Given the description of an element on the screen output the (x, y) to click on. 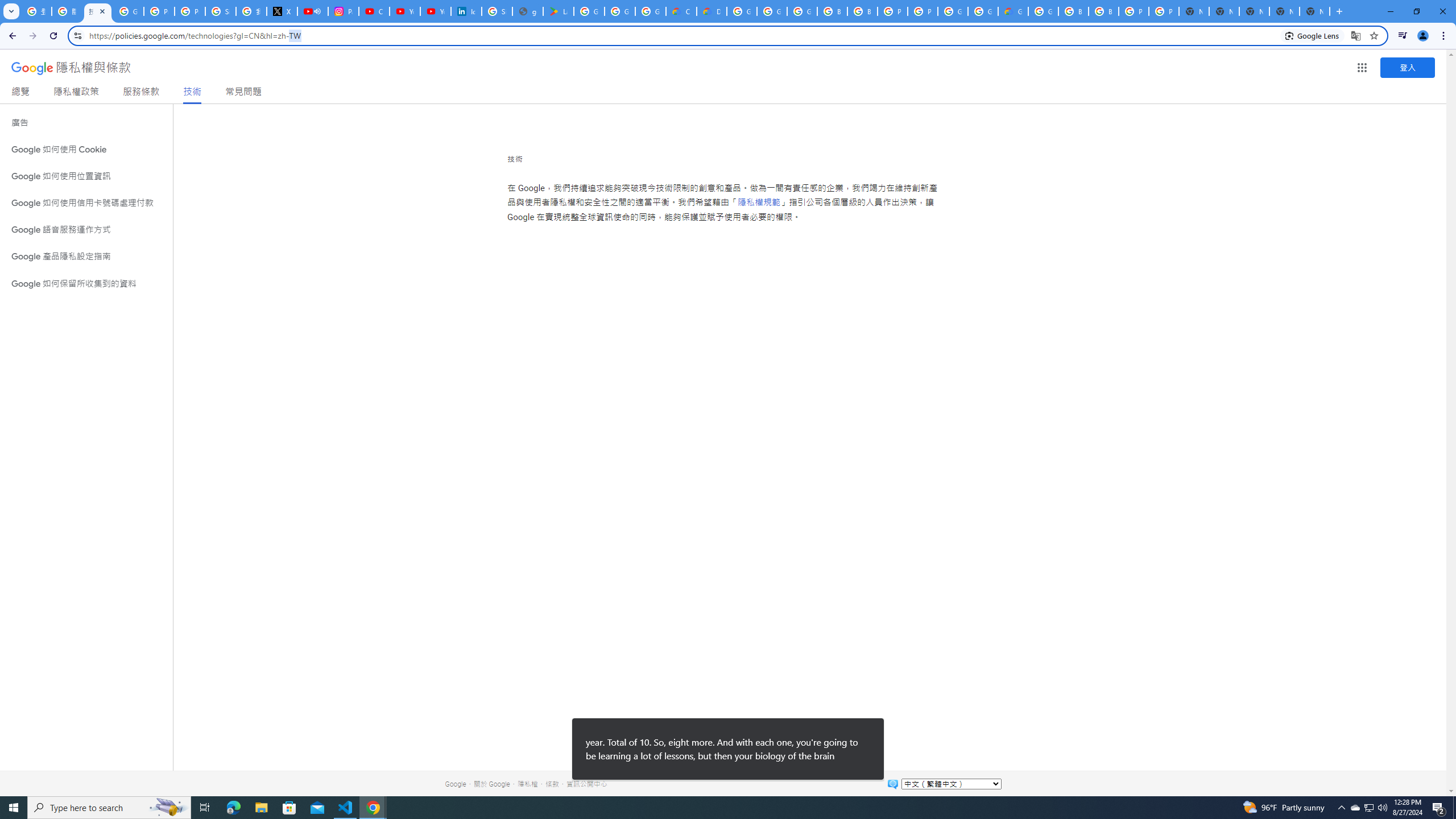
X (282, 11)
Google Cloud Estimate Summary (1012, 11)
Google Cloud Platform (741, 11)
